Given the description of an element on the screen output the (x, y) to click on. 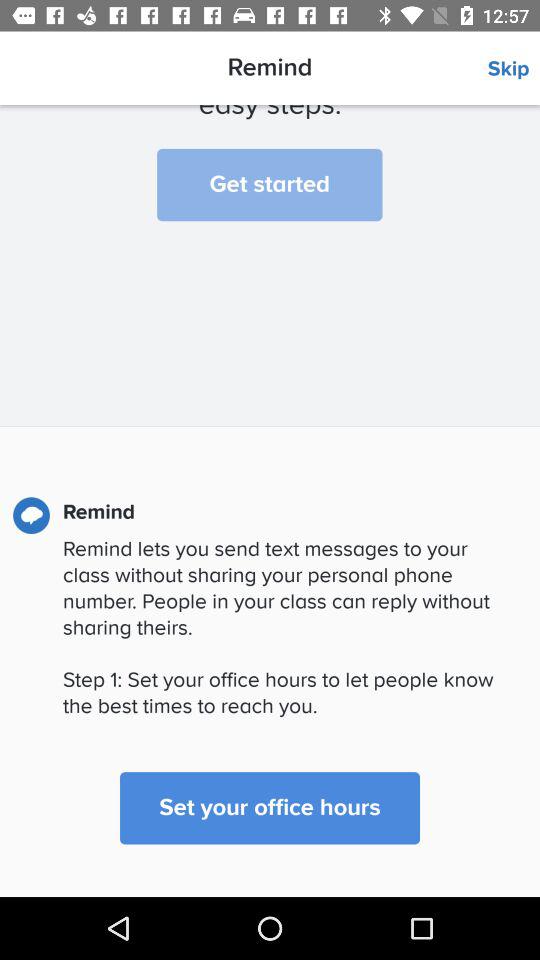
turn on the item next to remind (513, 69)
